Given the description of an element on the screen output the (x, y) to click on. 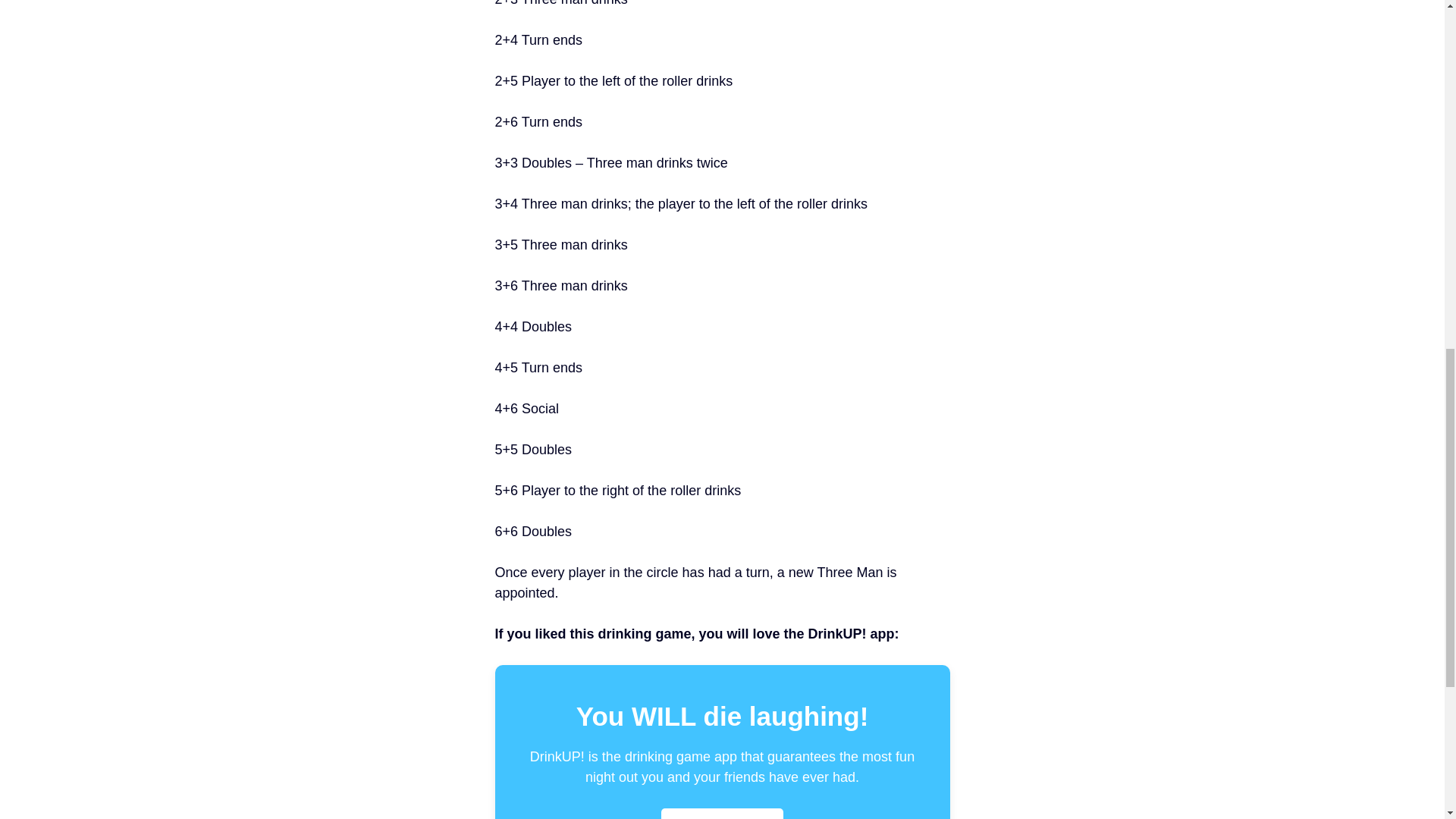
LEARN MORE (722, 813)
